Given the description of an element on the screen output the (x, y) to click on. 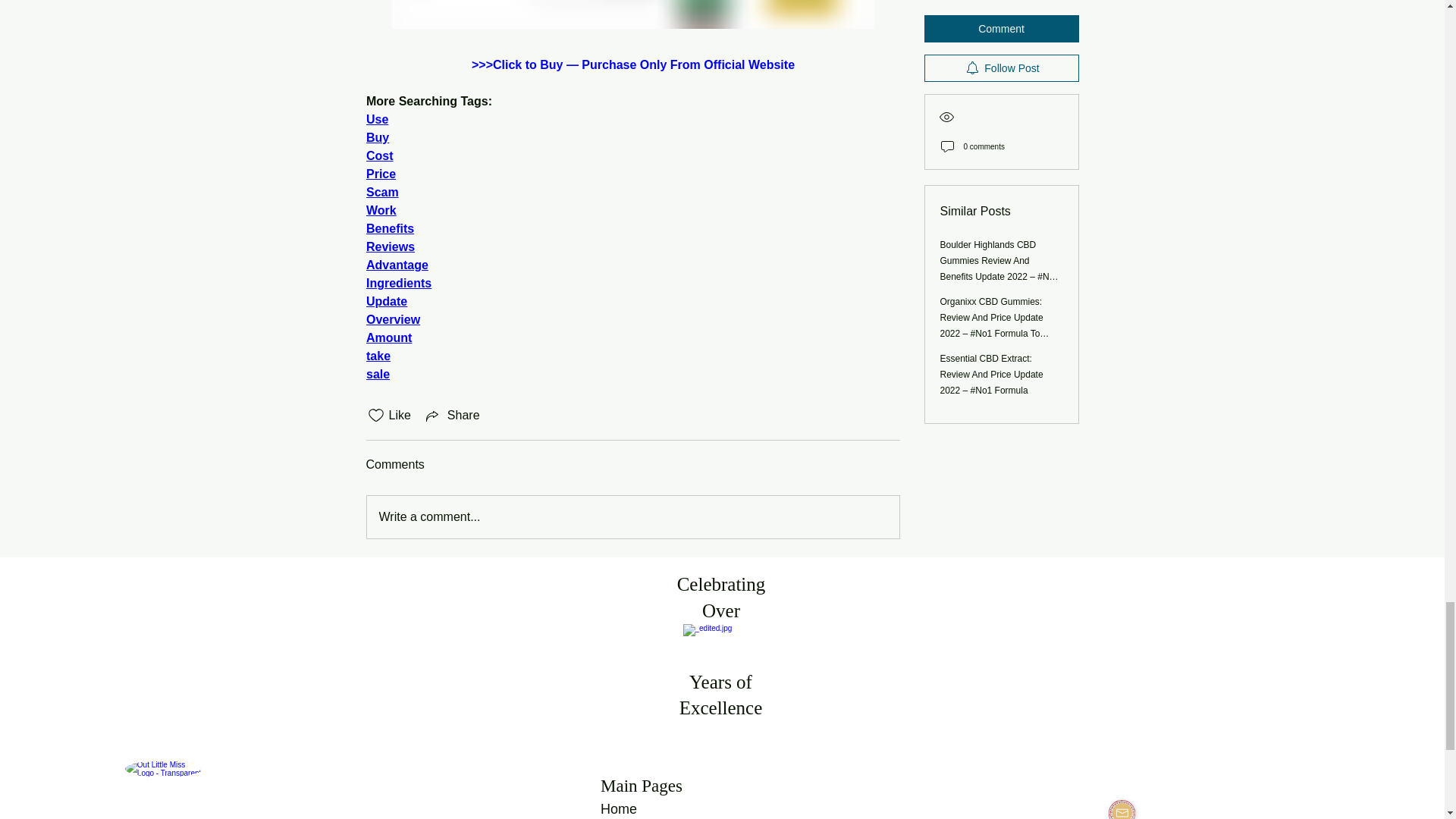
Price (379, 173)
Use (376, 119)
Work (380, 210)
Benefits (389, 228)
Buy (376, 137)
Advantage (396, 264)
Reviews (389, 246)
Scam (381, 192)
Cost (379, 155)
